Given the description of an element on the screen output the (x, y) to click on. 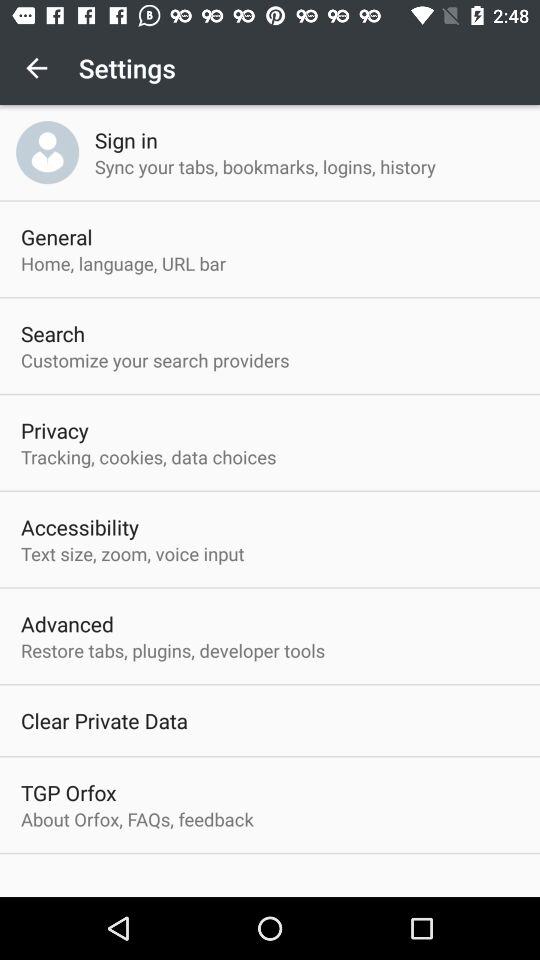
select clear private data app (104, 720)
